Given the description of an element on the screen output the (x, y) to click on. 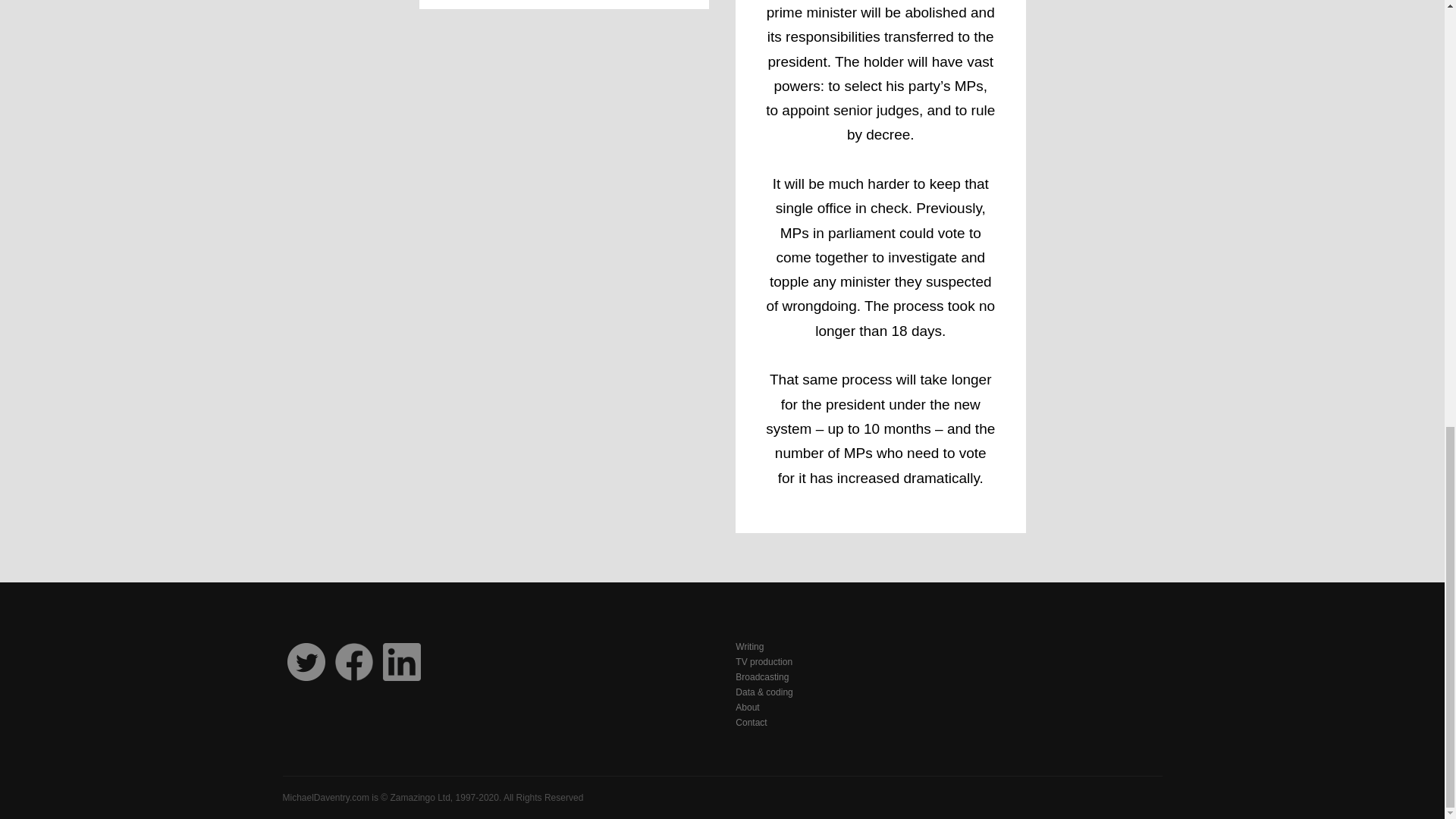
Writing (947, 646)
Contact (947, 722)
Broadcasting (947, 676)
TV production (947, 661)
About (947, 707)
